Given the description of an element on the screen output the (x, y) to click on. 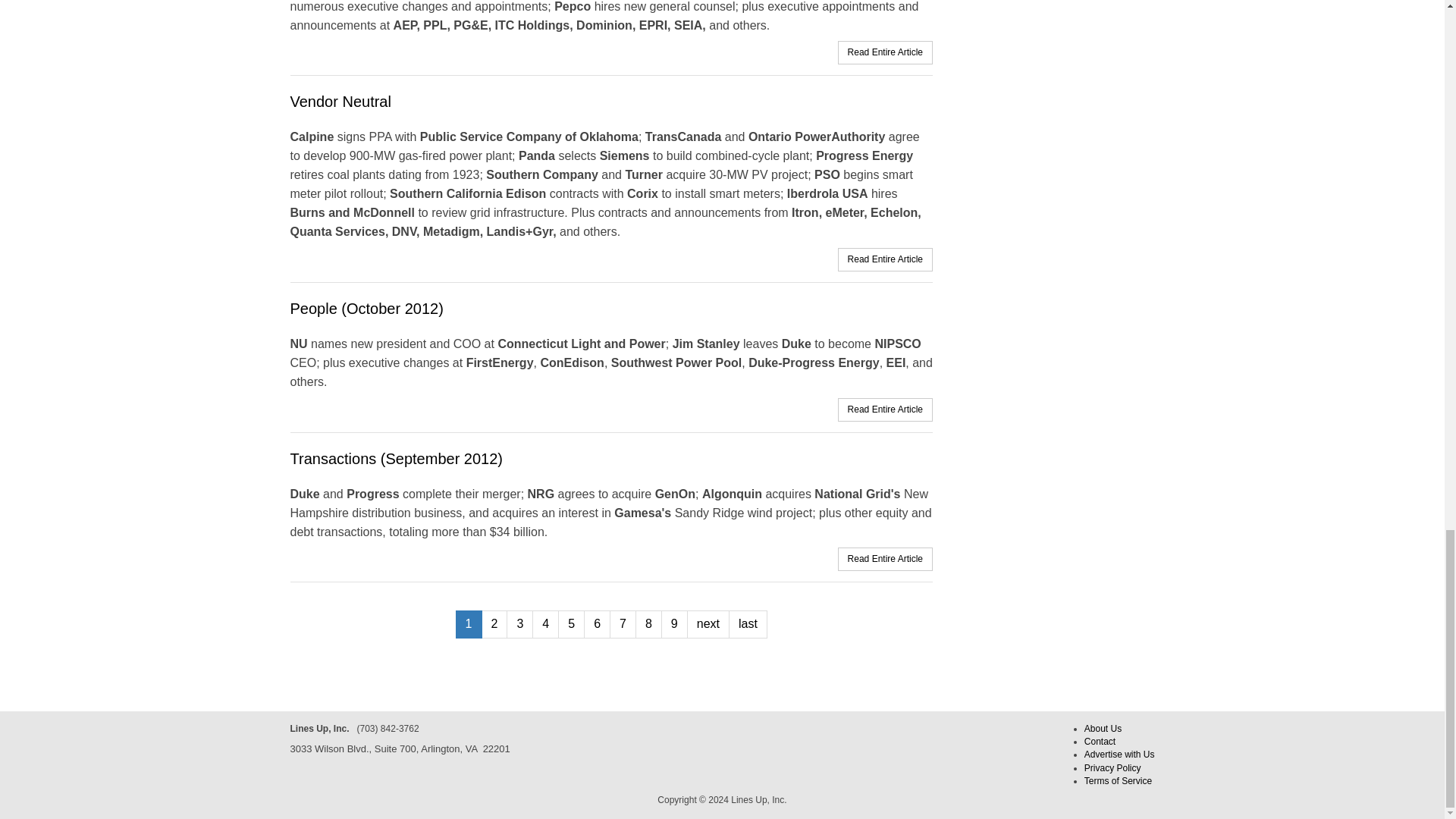
Read Entire Article (885, 409)
3 (519, 624)
Read Entire Article (885, 258)
Go to page 3 (519, 624)
Go to page 5 (571, 624)
Go to page 2 (493, 624)
Go to page 8 (648, 624)
Go to page 9 (674, 624)
Read Entire Article (885, 51)
Go to page 6 (596, 624)
